Given the description of an element on the screen output the (x, y) to click on. 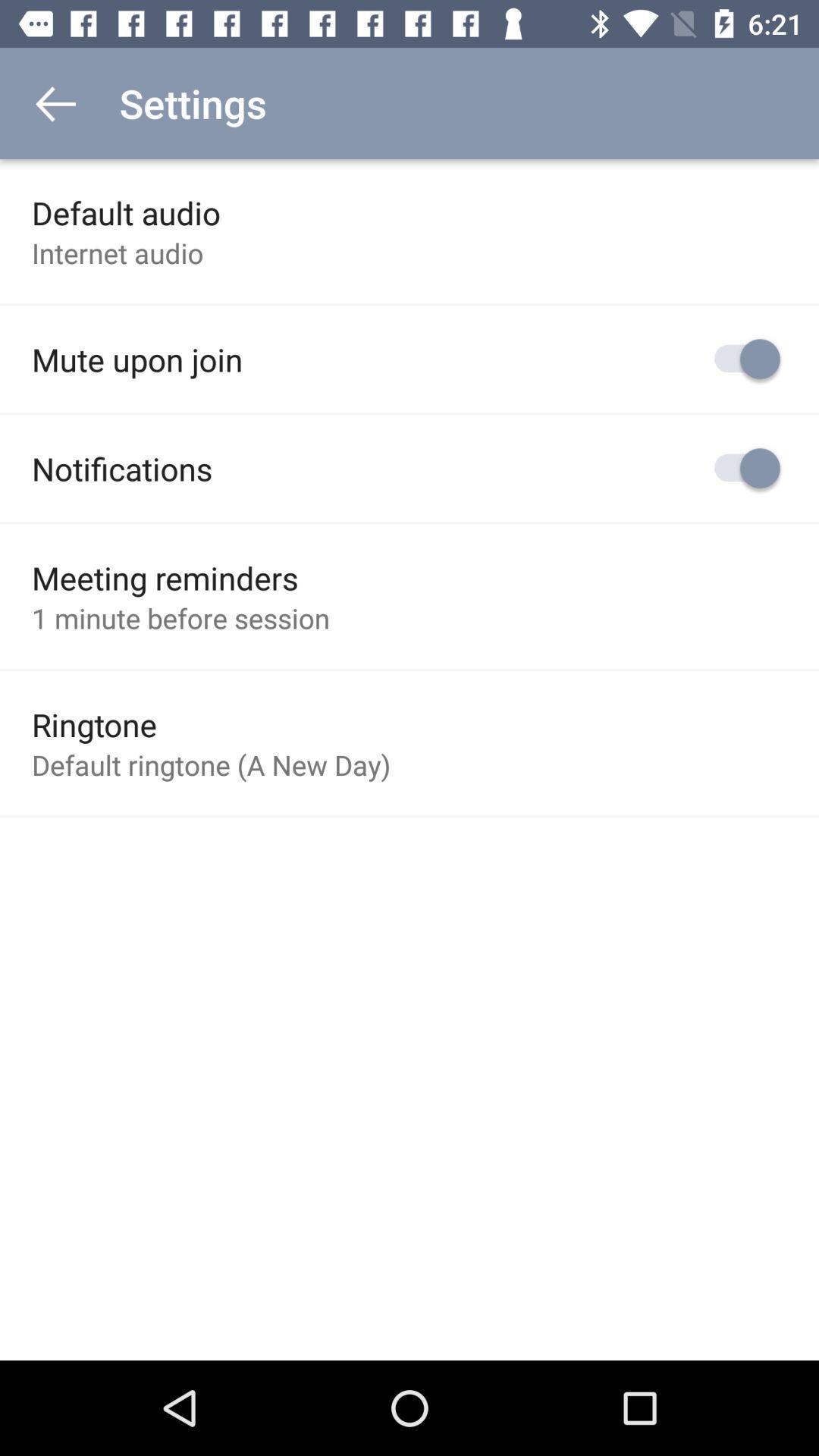
launch item above mute upon join item (117, 252)
